Given the description of an element on the screen output the (x, y) to click on. 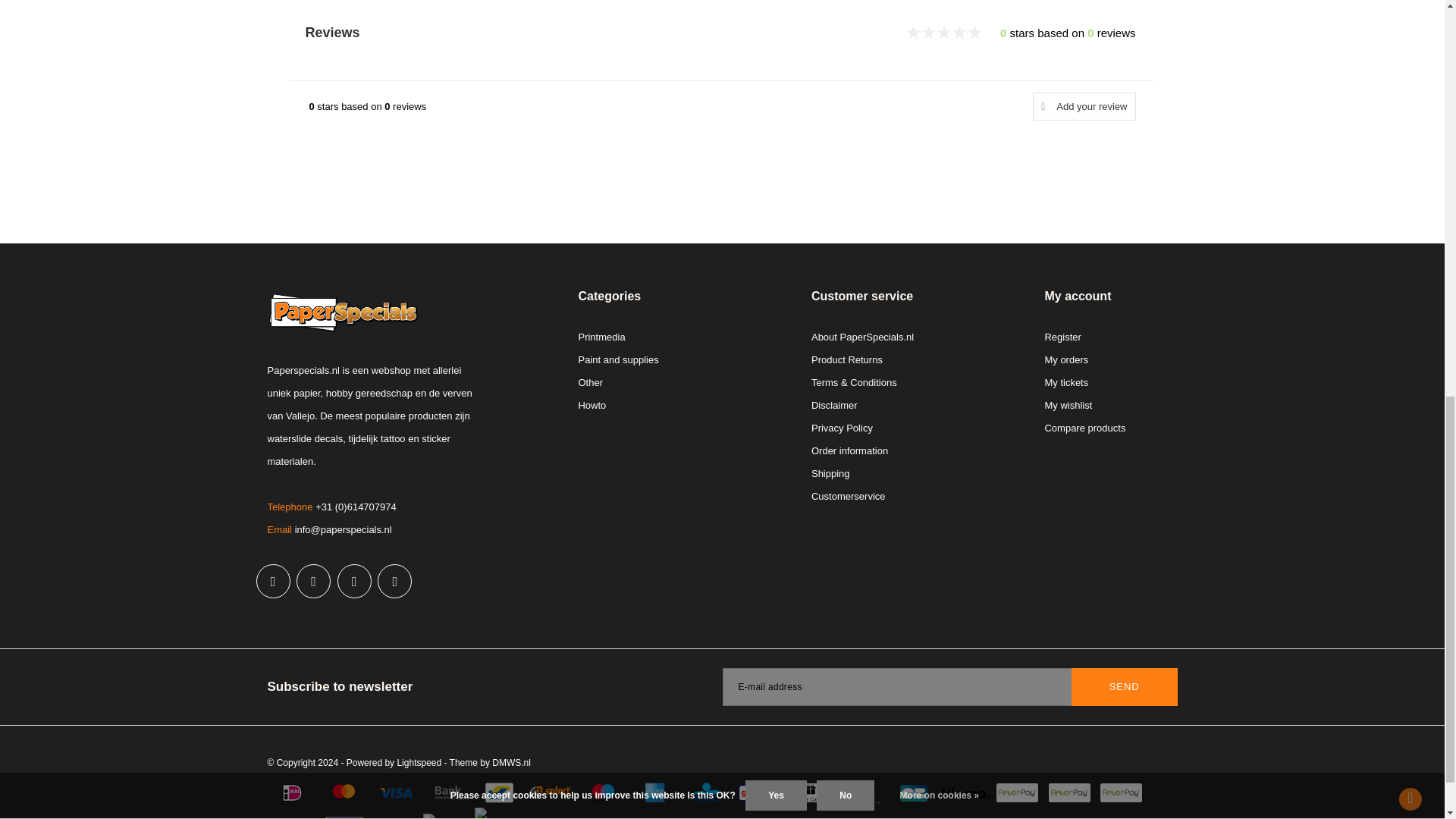
Register (1061, 337)
Subscribe (1124, 686)
My wishlist (1067, 405)
Lightspeed (418, 762)
My orders (1065, 359)
My tickets (1065, 382)
